Given the description of an element on the screen output the (x, y) to click on. 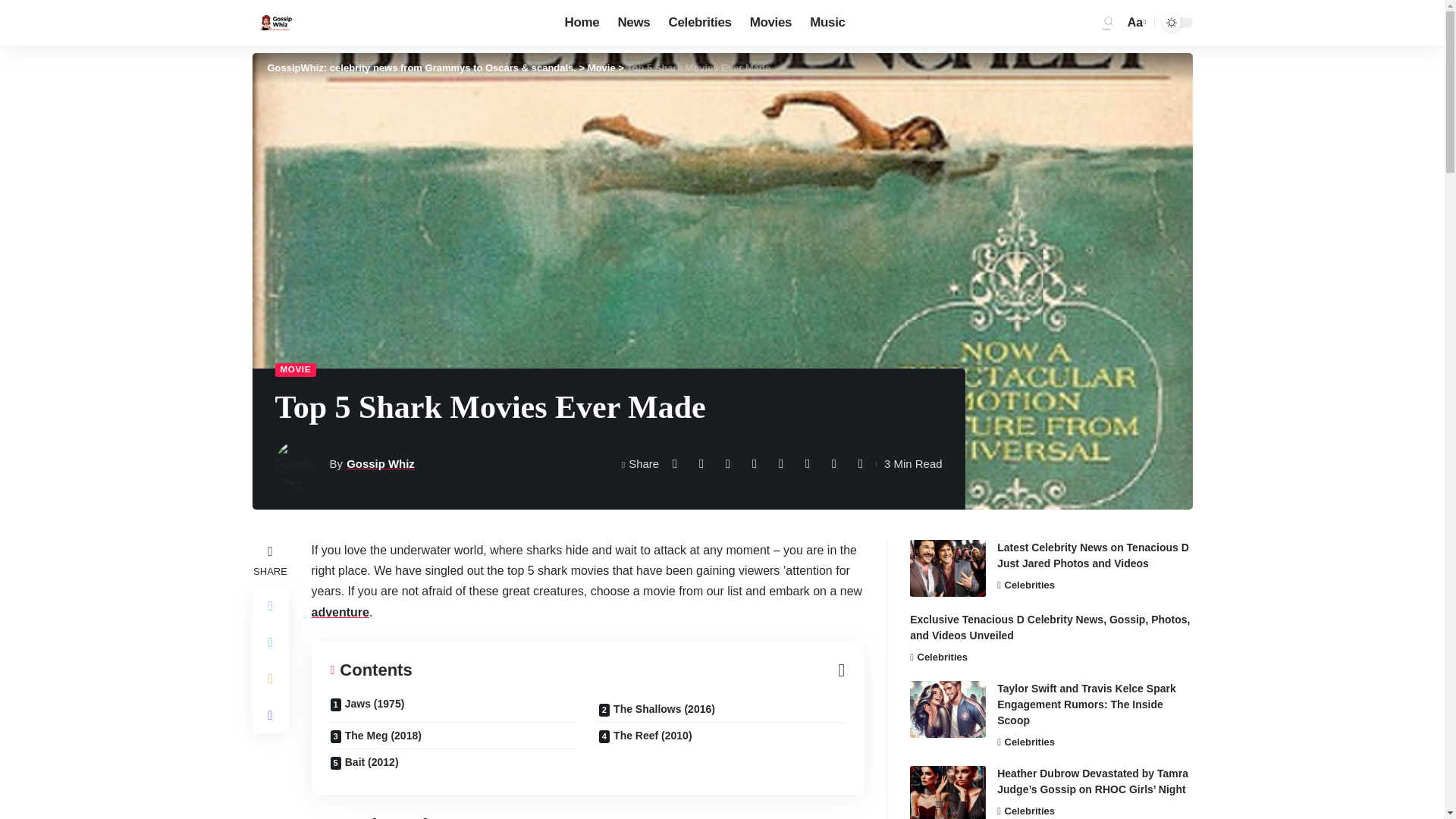
Home (582, 22)
News (633, 22)
Celebrities (699, 22)
Movies (771, 22)
Go to the Movie Category archives. (601, 67)
Music (826, 22)
Aa (1135, 22)
